Given the description of an element on the screen output the (x, y) to click on. 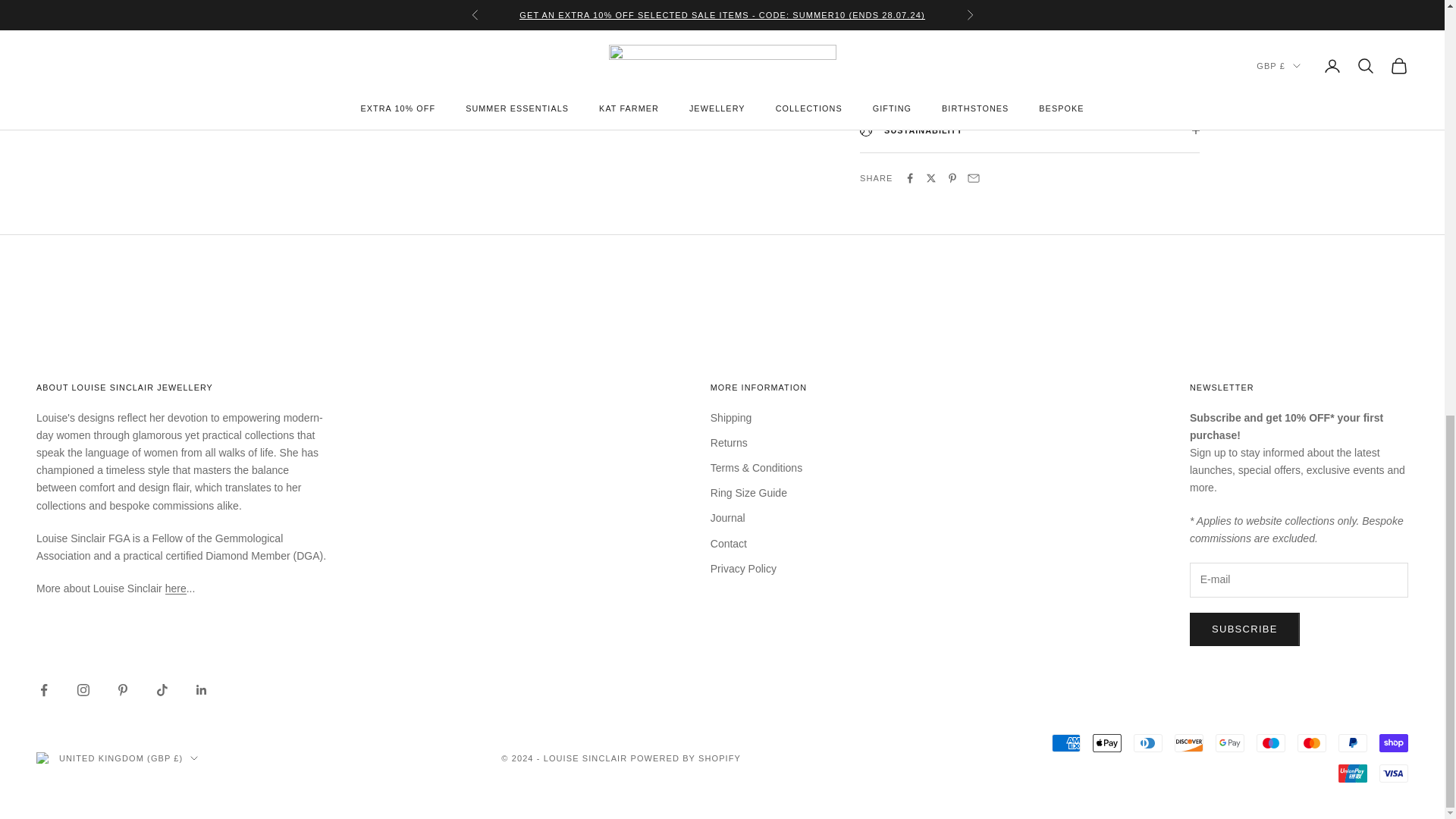
About Louise Sinclair (175, 588)
